Given the description of an element on the screen output the (x, y) to click on. 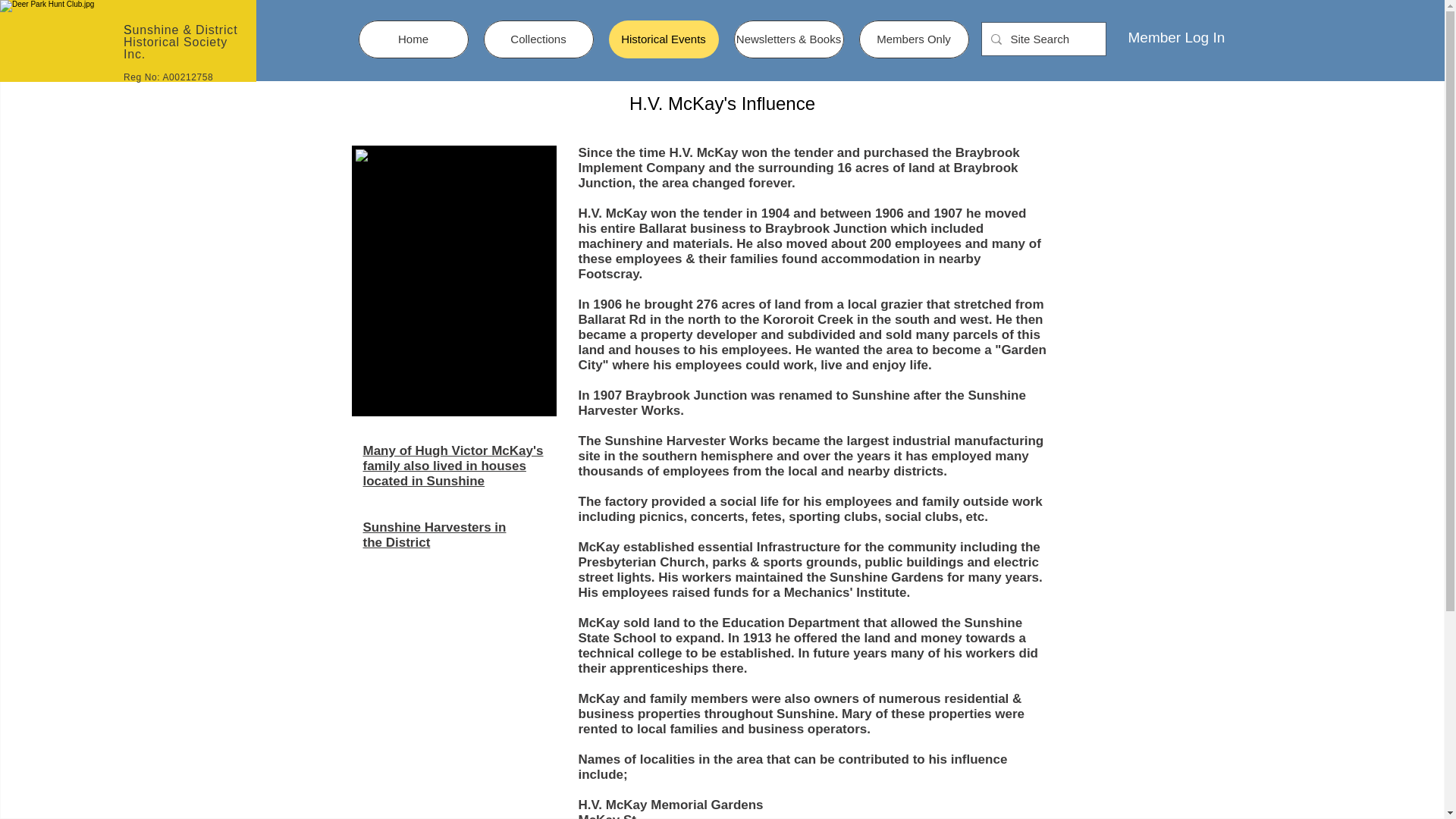
S Element type: text (127, 29)
Members Only Element type: text (913, 39)
Sunshine Harvesters in the District Element type: text (433, 534)
Newsletters & Books Element type: text (789, 39)
Historical Events Element type: text (663, 39)
Home Element type: text (412, 39)
Member Log In Element type: text (1176, 38)
